Given the description of an element on the screen output the (x, y) to click on. 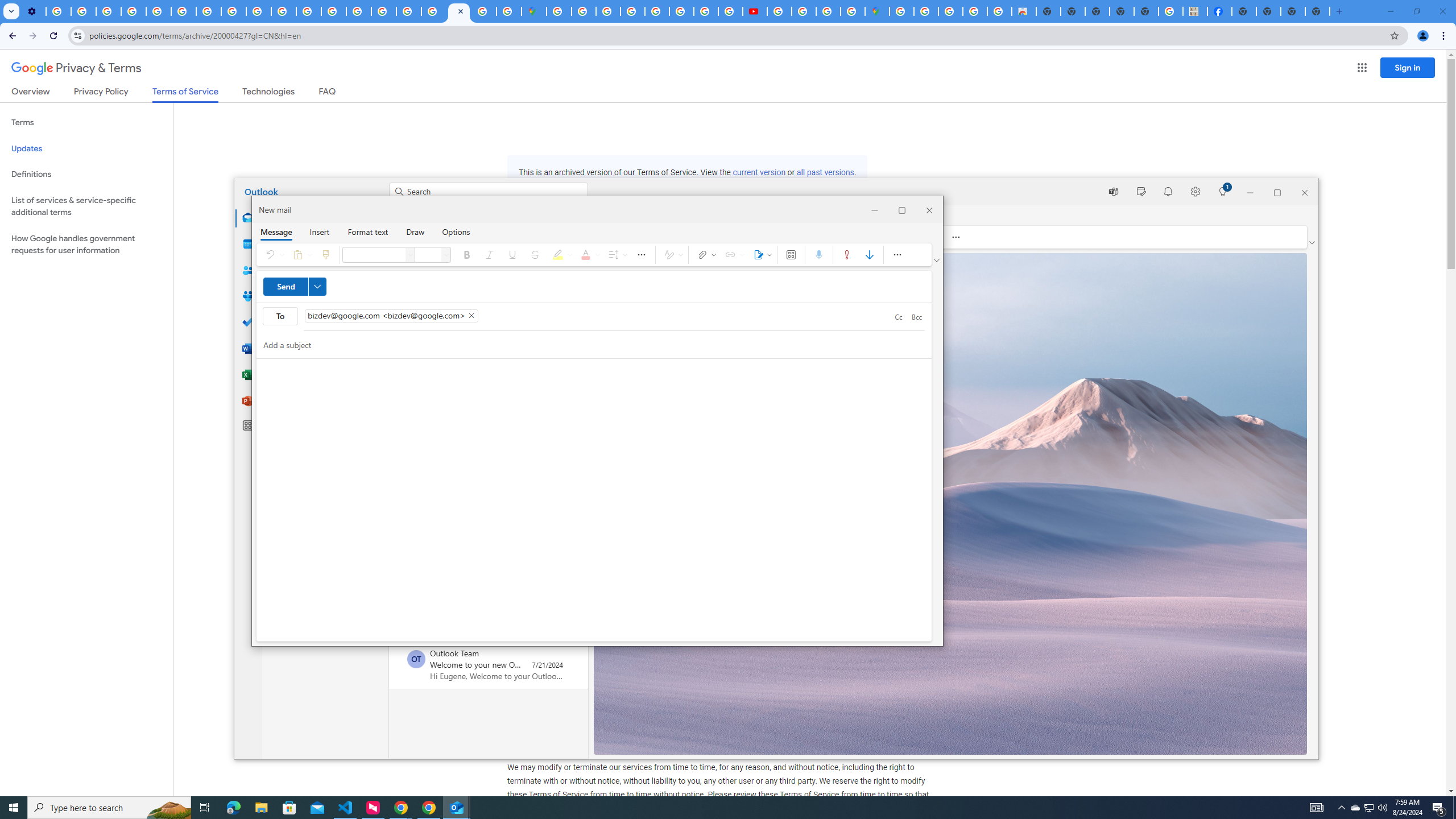
Strikethrough (535, 254)
Options (456, 231)
Action Center, 5 new notifications (1439, 807)
Maximize (901, 208)
Visual Studio Code - 1 running window (345, 807)
Draw (415, 231)
Font size (427, 254)
Show desktop (1454, 807)
User Promoted Notification Area (1368, 807)
Outlook Team (416, 659)
Start (13, 807)
Signature (760, 254)
Running applications (717, 807)
Text highlight color (560, 254)
